Given the description of an element on the screen output the (x, y) to click on. 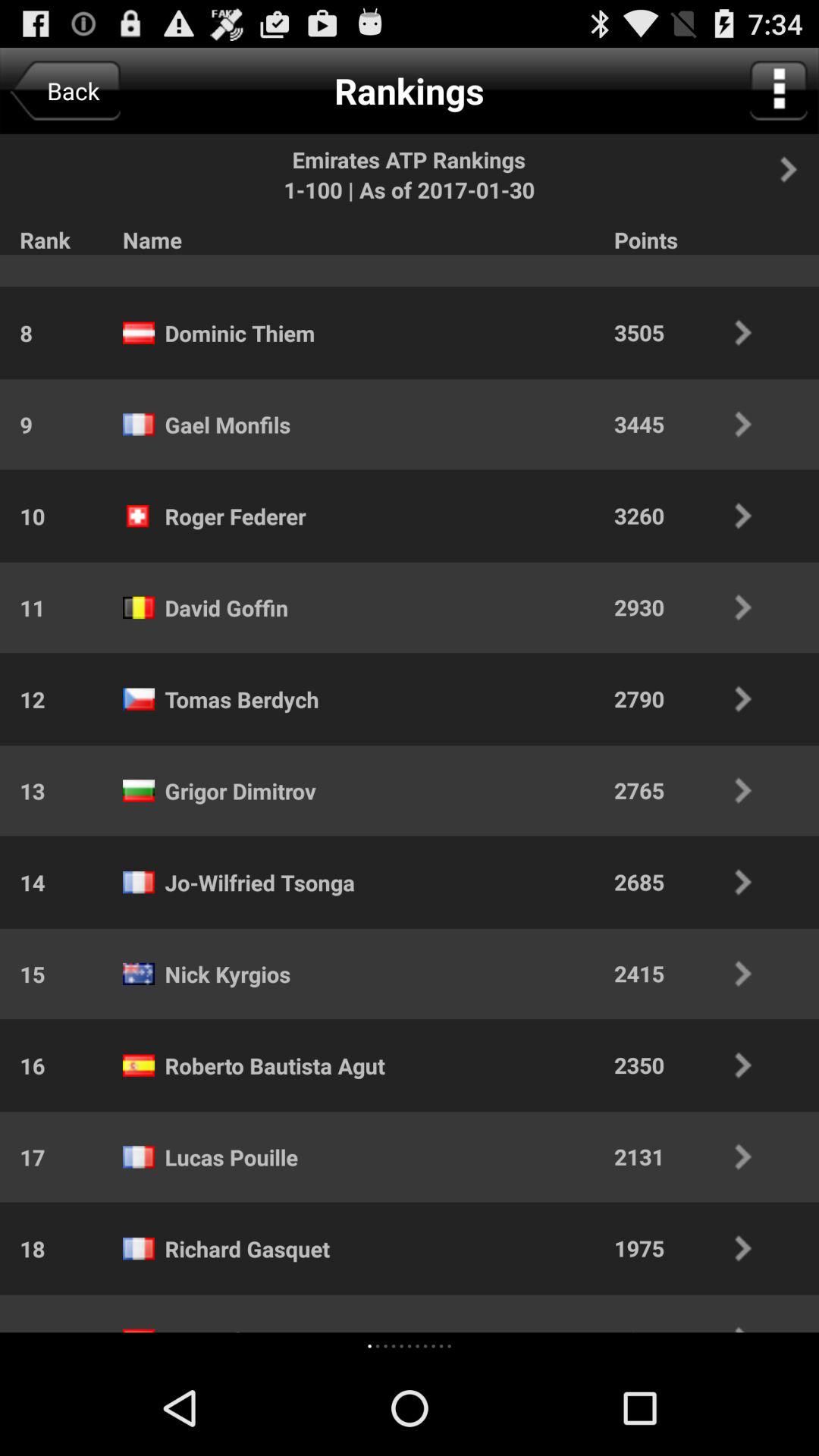
launch the item to the right of the lucas pouille (693, 1156)
